Given the description of an element on the screen output the (x, y) to click on. 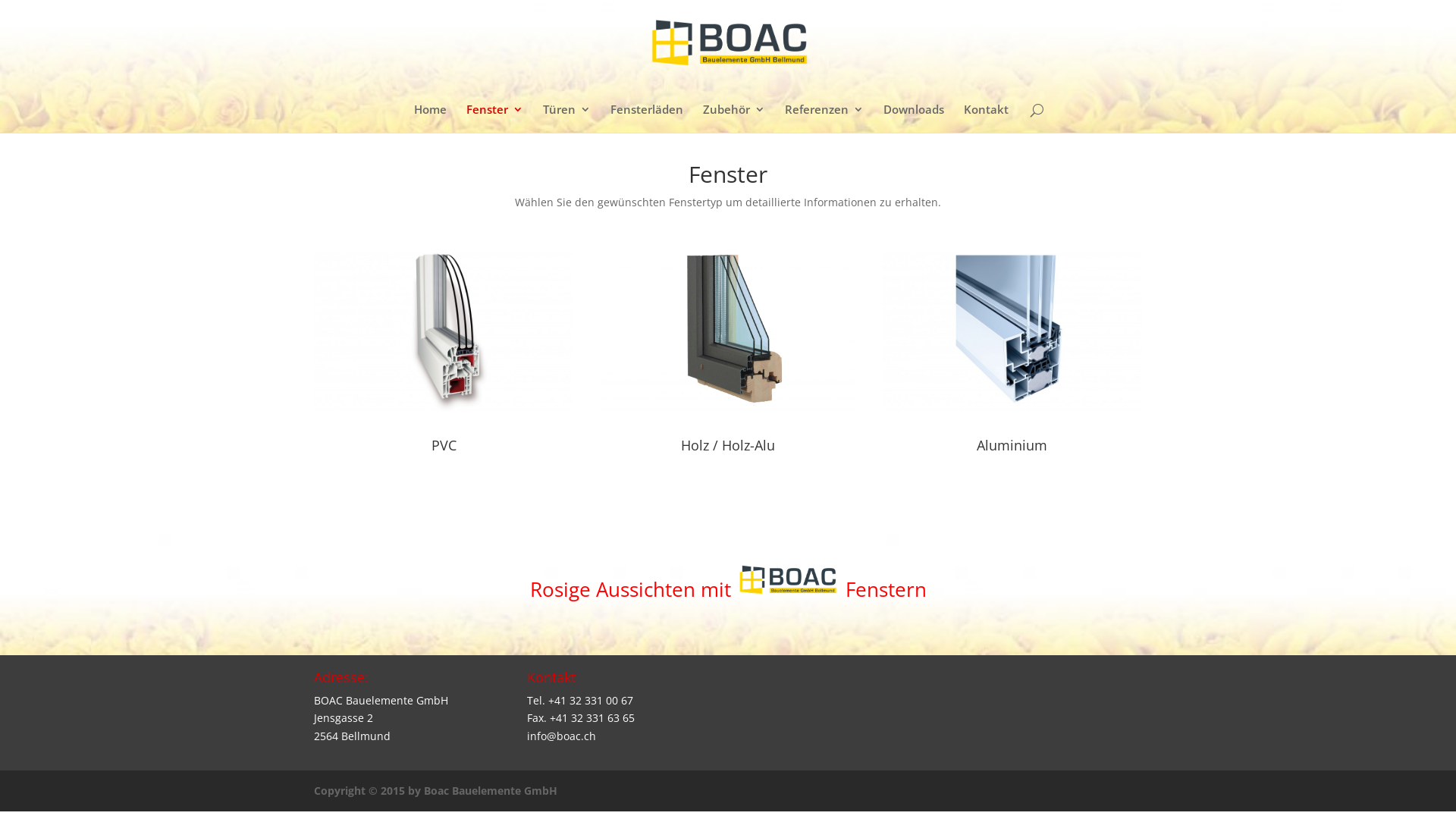
PVC Element type: text (443, 445)
Downloads Element type: text (913, 117)
Kontakt Element type: text (985, 117)
Holz / Holz-Alu Element type: text (727, 445)
Aluminium Element type: text (1011, 445)
Referenzen Element type: text (823, 117)
Fenster Element type: text (494, 117)
Home Element type: text (430, 117)
